Given the description of an element on the screen output the (x, y) to click on. 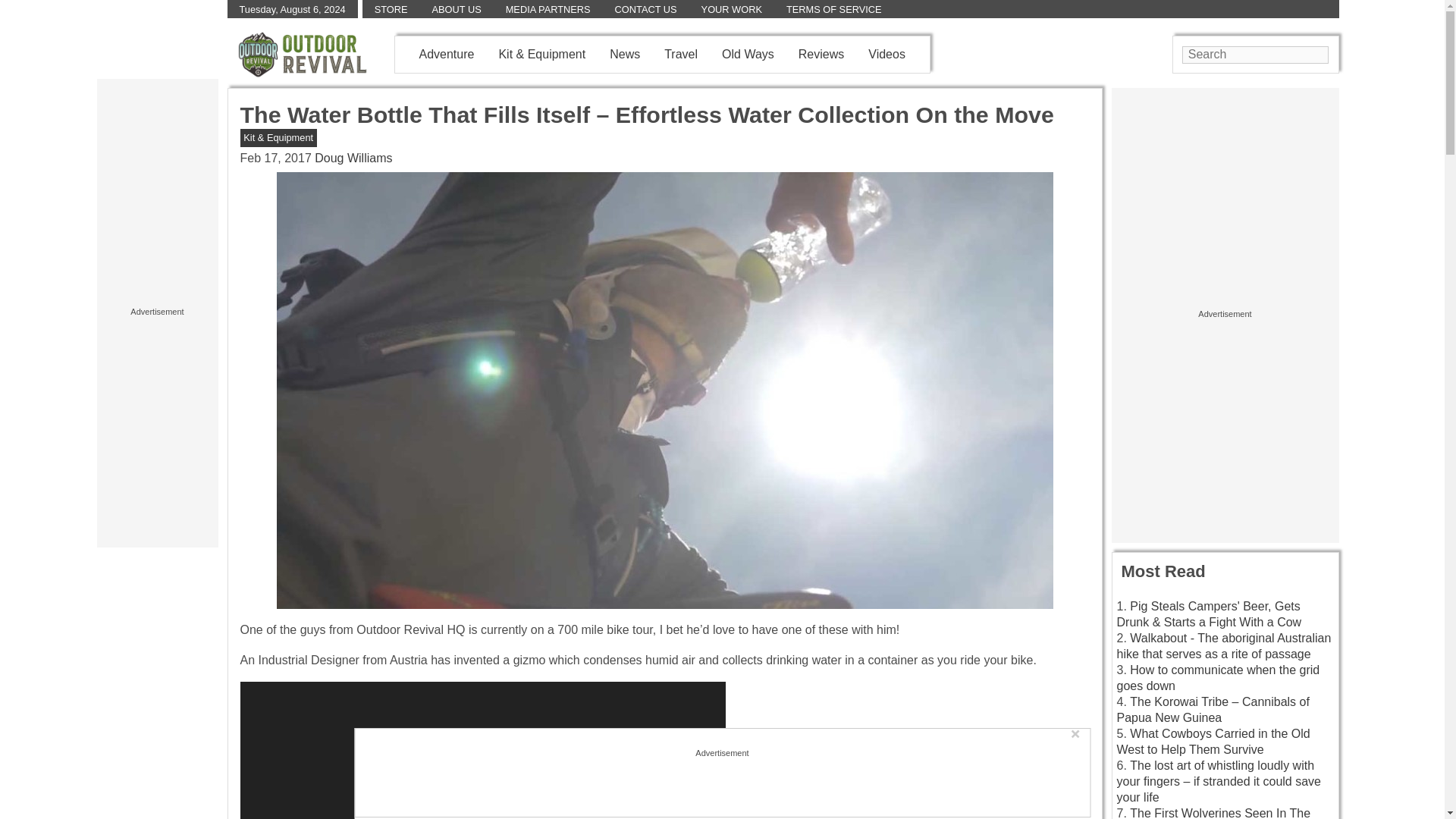
What Cowboys Carried in the Old West to Help Them Survive (1212, 741)
Travel (680, 53)
STORE (390, 9)
CONTACT US (645, 9)
Old Ways (748, 53)
Adventure (446, 53)
Videos (886, 53)
MEDIA PARTNERS (548, 9)
How to communicate when the grid goes down (1217, 677)
